Given the description of an element on the screen output the (x, y) to click on. 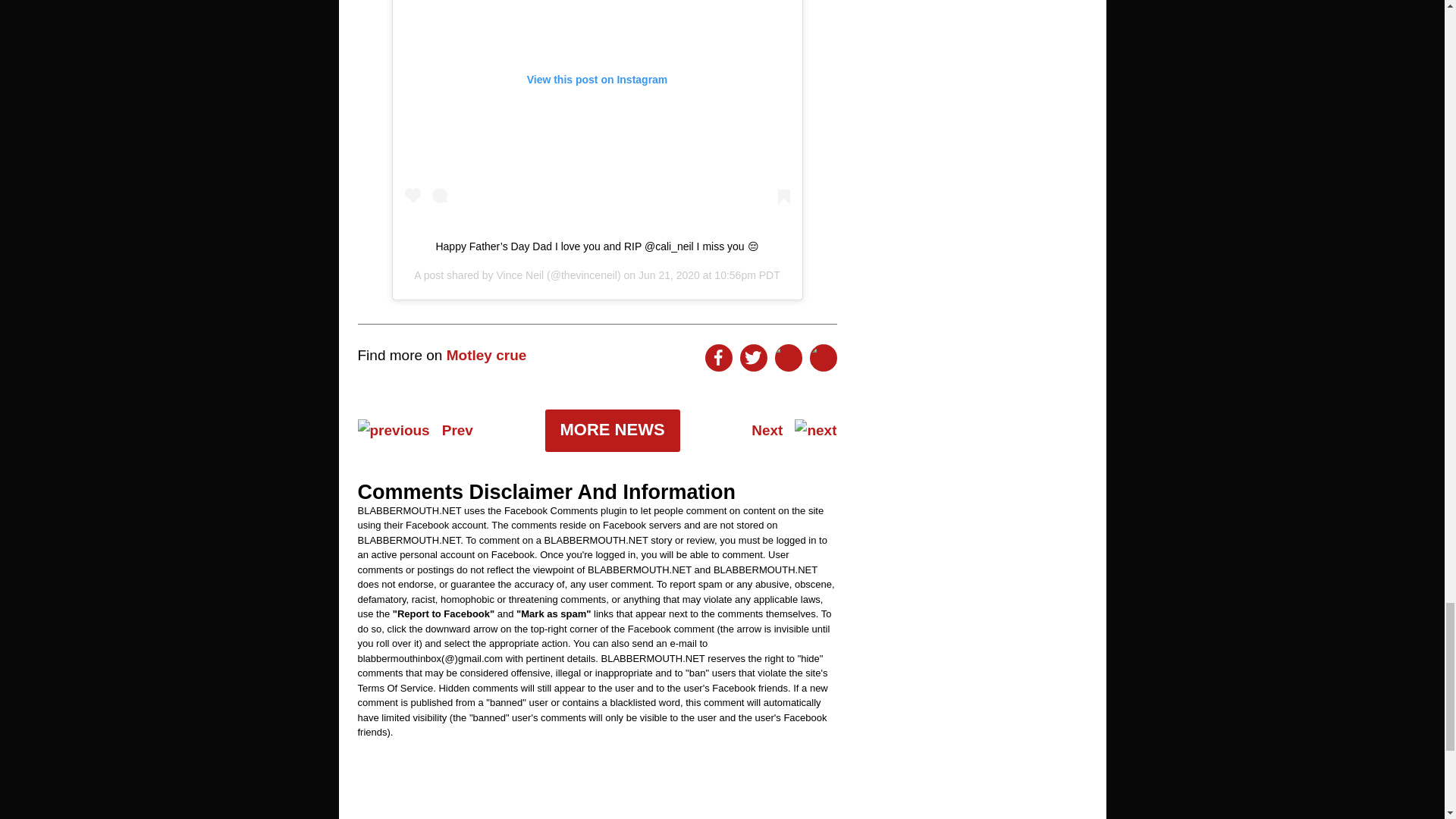
Share On Twitter (753, 357)
Copy To Clipboard (823, 357)
Share On Reddit (788, 357)
Share On Facebook (718, 357)
